Given the description of an element on the screen output the (x, y) to click on. 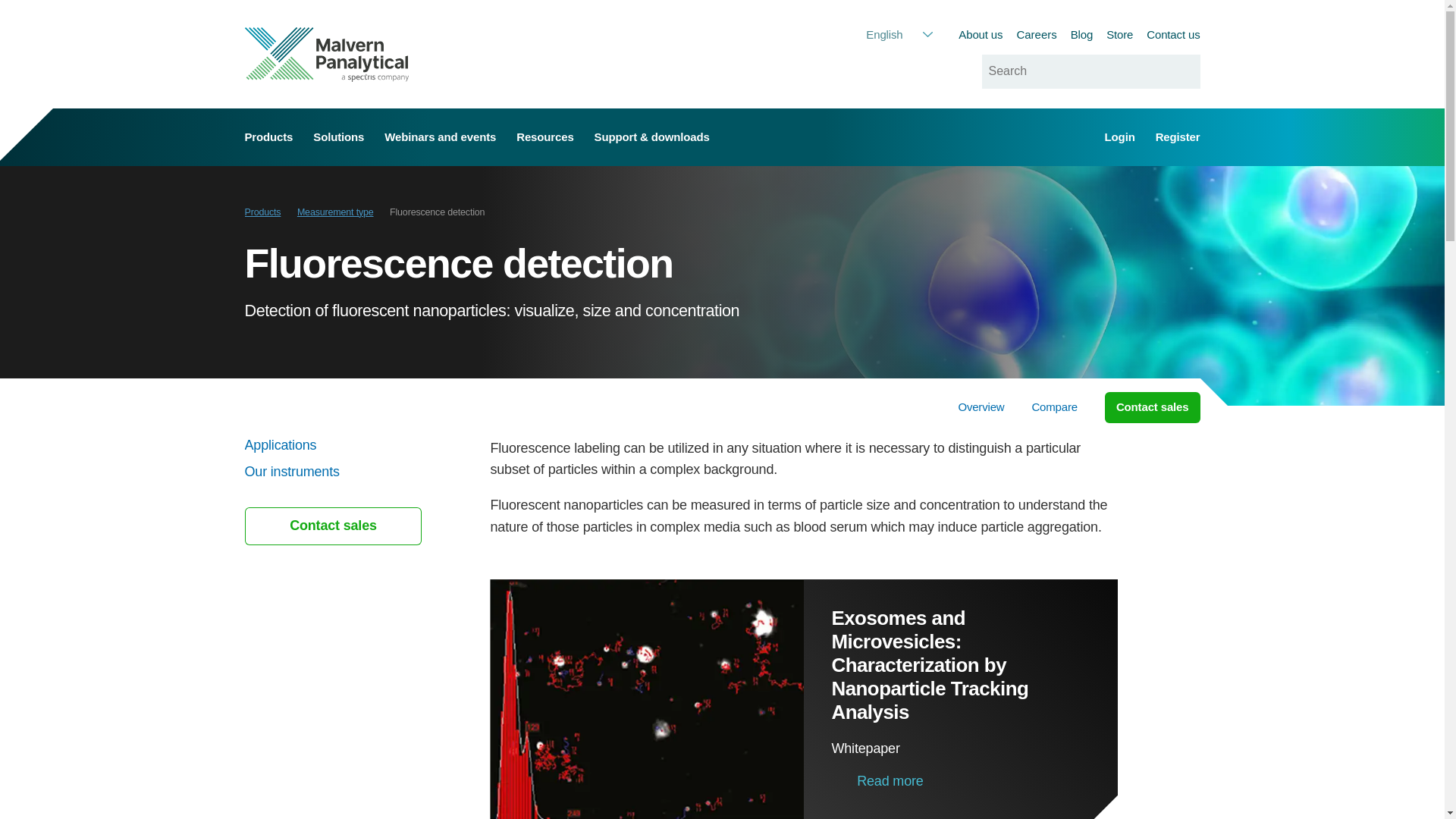
Applications (353, 445)
About us (980, 33)
Our instruments (353, 472)
Login (1120, 136)
Contact us (1173, 33)
Careers (1036, 34)
Products (262, 212)
Webinars and events (440, 136)
Blog (1081, 33)
